Given the description of an element on the screen output the (x, y) to click on. 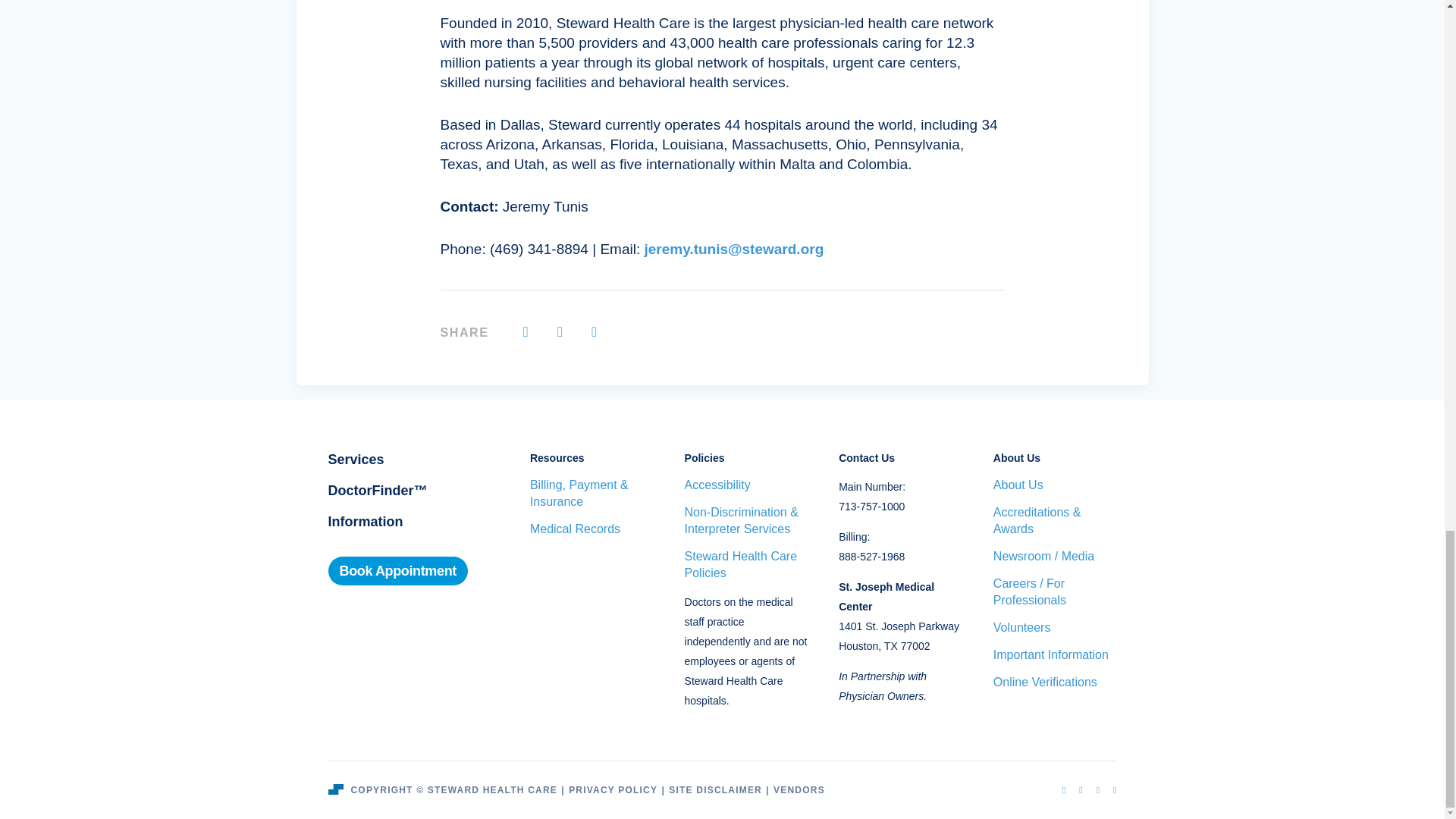
Services (355, 459)
Accessibility (746, 484)
Information (365, 521)
Medical Records (591, 528)
Book Appointment (397, 570)
